Given the description of an element on the screen output the (x, y) to click on. 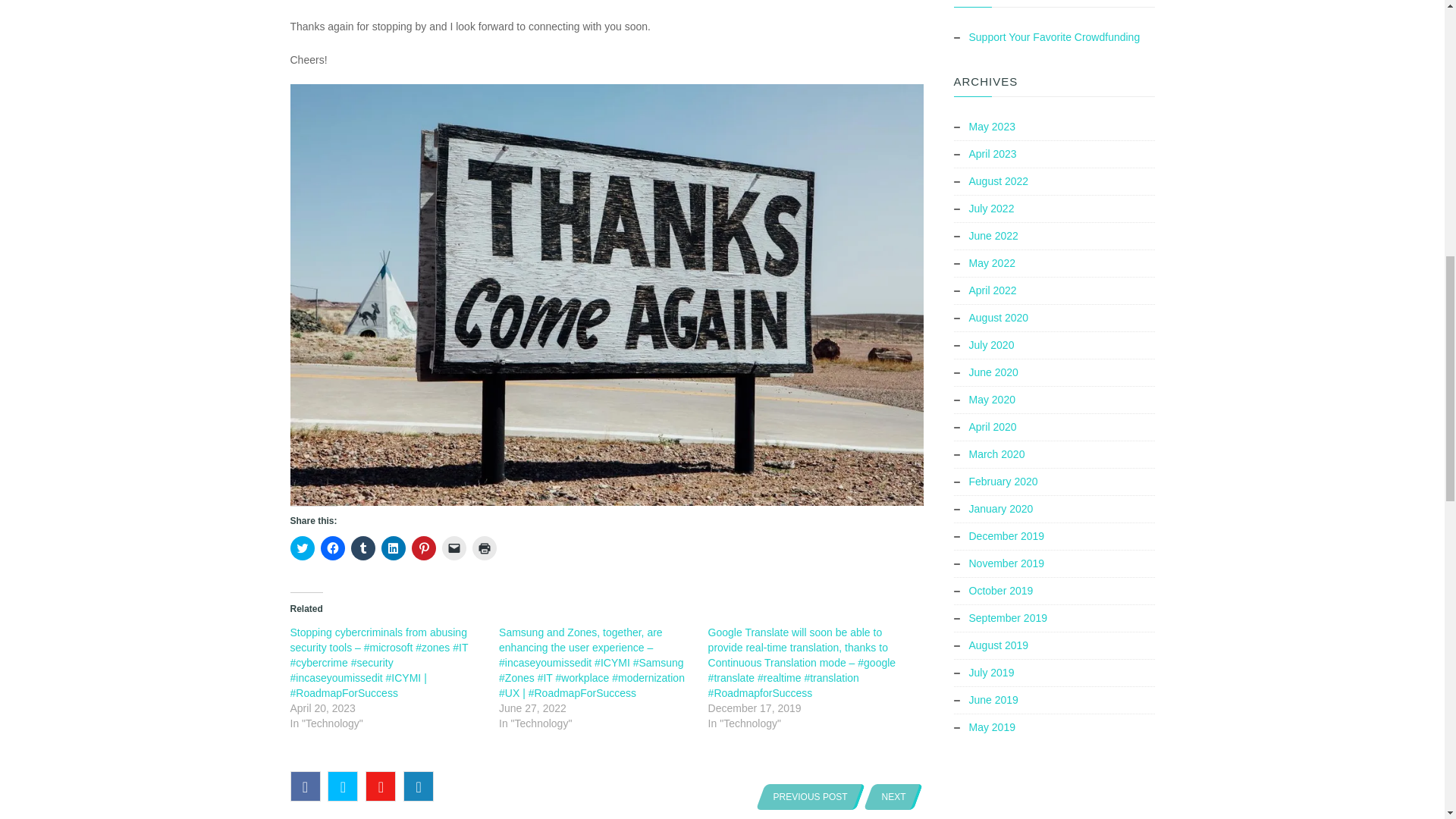
Click to share on Pinterest (422, 548)
Click to email a link to a friend (453, 548)
Click to share on Facebook (331, 548)
Click to share on Tumblr (362, 548)
Click to print (483, 548)
Click to share on LinkedIn (392, 548)
Click to share on Twitter (301, 548)
